Given the description of an element on the screen output the (x, y) to click on. 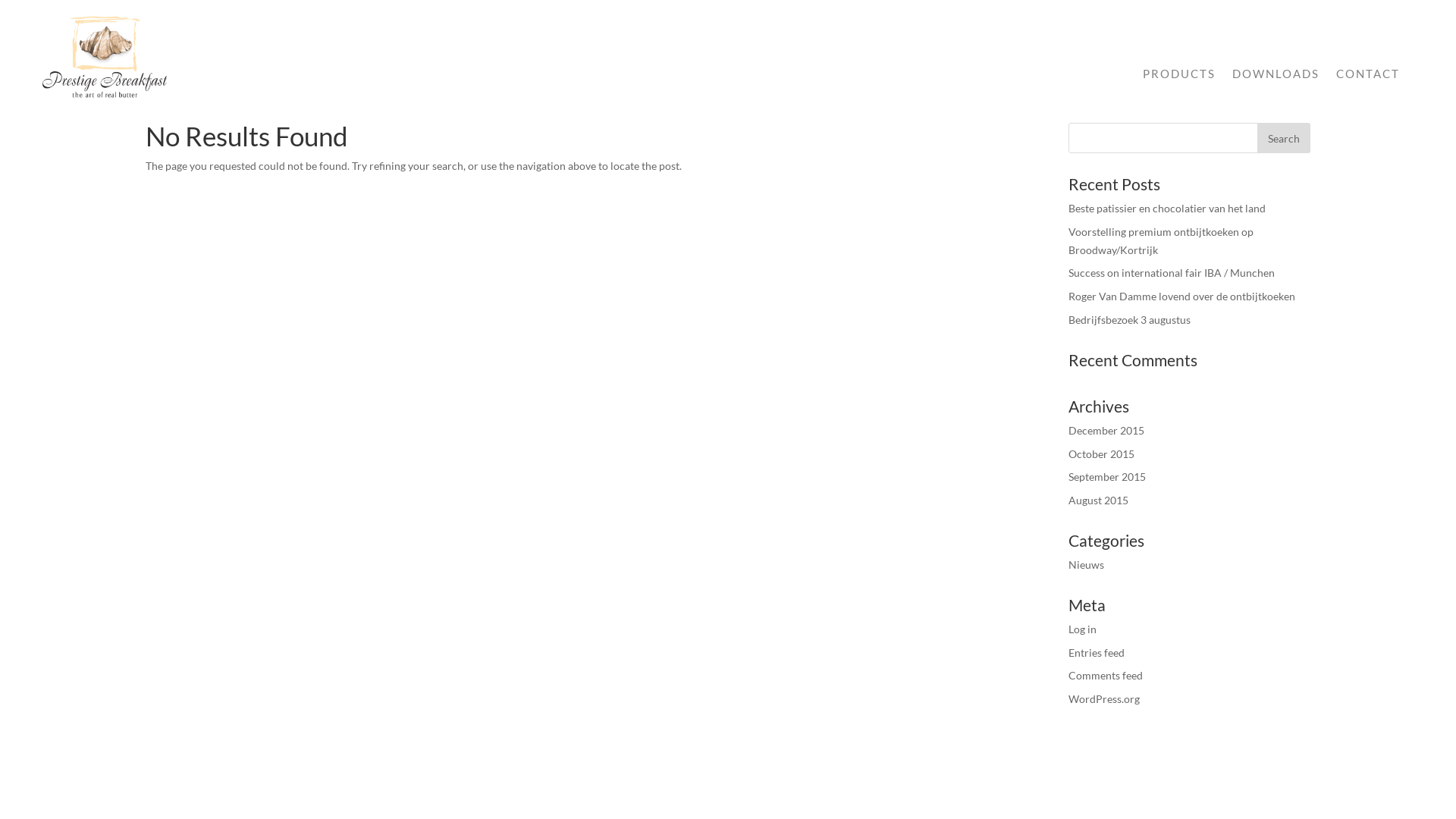
Voorstelling premium ontbijtkoeken op Broodway/Kortrijk Element type: text (1160, 240)
DOWNLOADS Element type: text (1275, 73)
October 2015 Element type: text (1101, 453)
Search Element type: text (1283, 137)
August 2015 Element type: text (1098, 499)
Entries feed Element type: text (1096, 652)
Log in Element type: text (1082, 628)
Comments feed Element type: text (1105, 674)
Bedrijfsbezoek 3 augustus Element type: text (1129, 319)
PRODUCTS Element type: text (1178, 73)
Nieuws Element type: text (1086, 564)
September 2015 Element type: text (1106, 476)
Roger Van Damme lovend over de ontbijtkoeken Element type: text (1181, 295)
Success on international fair IBA / Munchen Element type: text (1171, 272)
CONTACT Element type: text (1367, 73)
December 2015 Element type: text (1106, 429)
Beste patissier en chocolatier van het land Element type: text (1166, 207)
WordPress.org Element type: text (1103, 698)
